Given the description of an element on the screen output the (x, y) to click on. 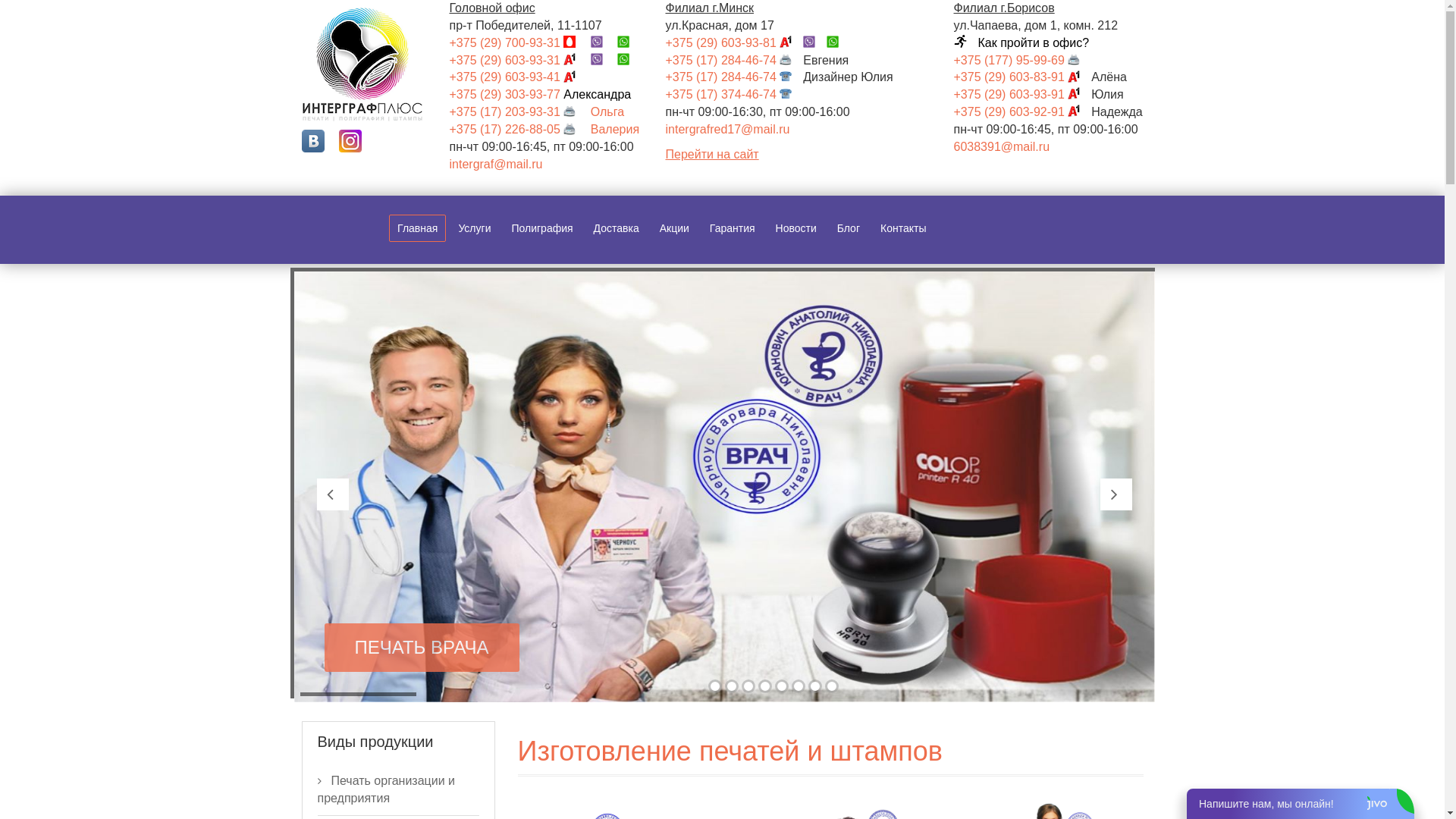
+375 (17) 374-46-74  Element type: text (734, 93)
+375 (29) 603-92-91  Element type: text (1022, 111)
+375 (29) 603-83-91  Element type: text (1022, 76)
+375 (29) 603-93-81  Element type: text (734, 42)
+375 (29) 603-93-31  Element type: text (517, 59)
+375 (17) 203-93-31  Element type: text (517, 111)
WhatsApp Element type: hover (628, 42)
+375 (177) 95-99-69  Element type: text (1022, 59)
6038391@mail.ru Element type: text (1001, 146)
intergraf@mail.ru Element type: text (495, 163)
WhatsApp Element type: hover (628, 59)
+375 (17) 226-88-05  Element type: text (517, 128)
+375 (17) 284-46-74  Element type: text (734, 76)
WhatsApp Element type: hover (838, 42)
+375 (17) 284-46-74  Element type: text (734, 59)
+375 (29) 603-93-41  Element type: text (517, 76)
+375 (29) 700-93-31  Element type: text (517, 42)
+375 (29) 603-93-91  Element type: text (1022, 93)
intergrafred17@mail.ru Element type: text (727, 128)
